Given the description of an element on the screen output the (x, y) to click on. 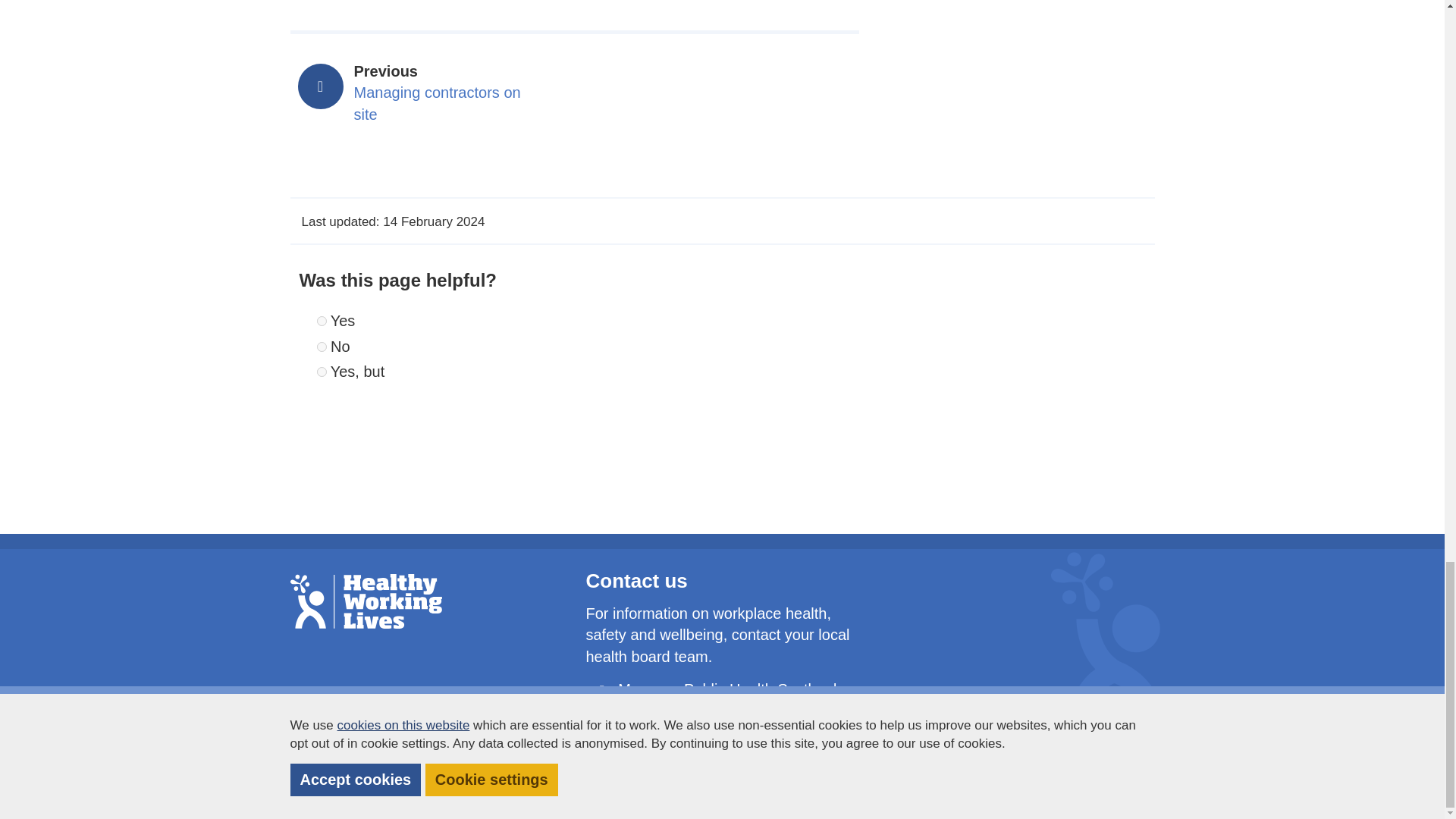
No (321, 347)
Message Public Health Scotland (425, 92)
Return to the homepage (726, 688)
Accessibility (365, 601)
Terms and conditions (793, 771)
Cookies (1063, 771)
Privacy information (973, 771)
Yes, but (888, 771)
Our organisation (321, 371)
Yes (704, 771)
